Given the description of an element on the screen output the (x, y) to click on. 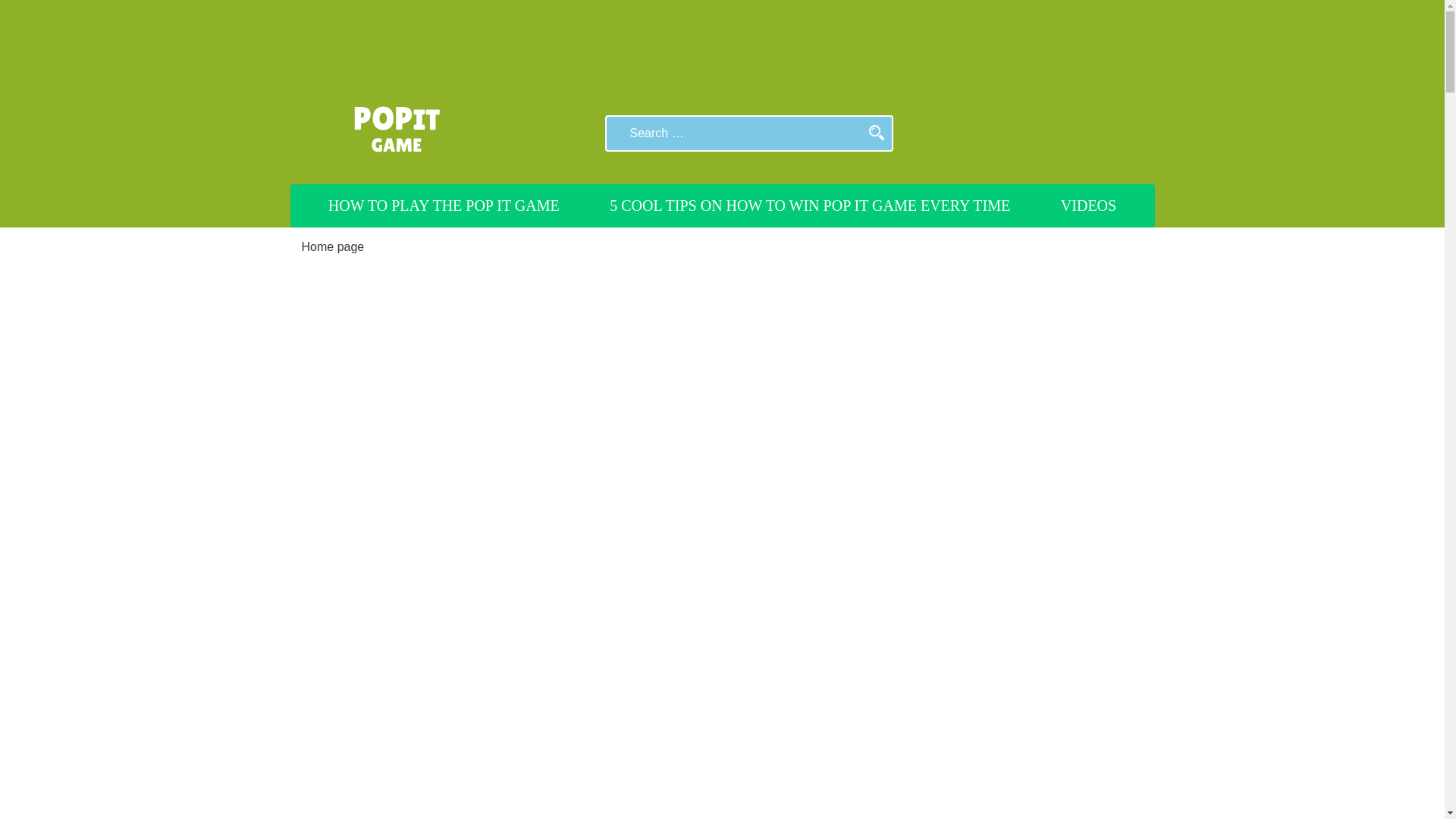
Home page (333, 246)
5 COOL TIPS ON HOW TO WIN POP IT GAME EVERY TIME (810, 205)
VIDEOS (1087, 205)
HOW TO PLAY THE POP IT GAME (443, 205)
